Given the description of an element on the screen output the (x, y) to click on. 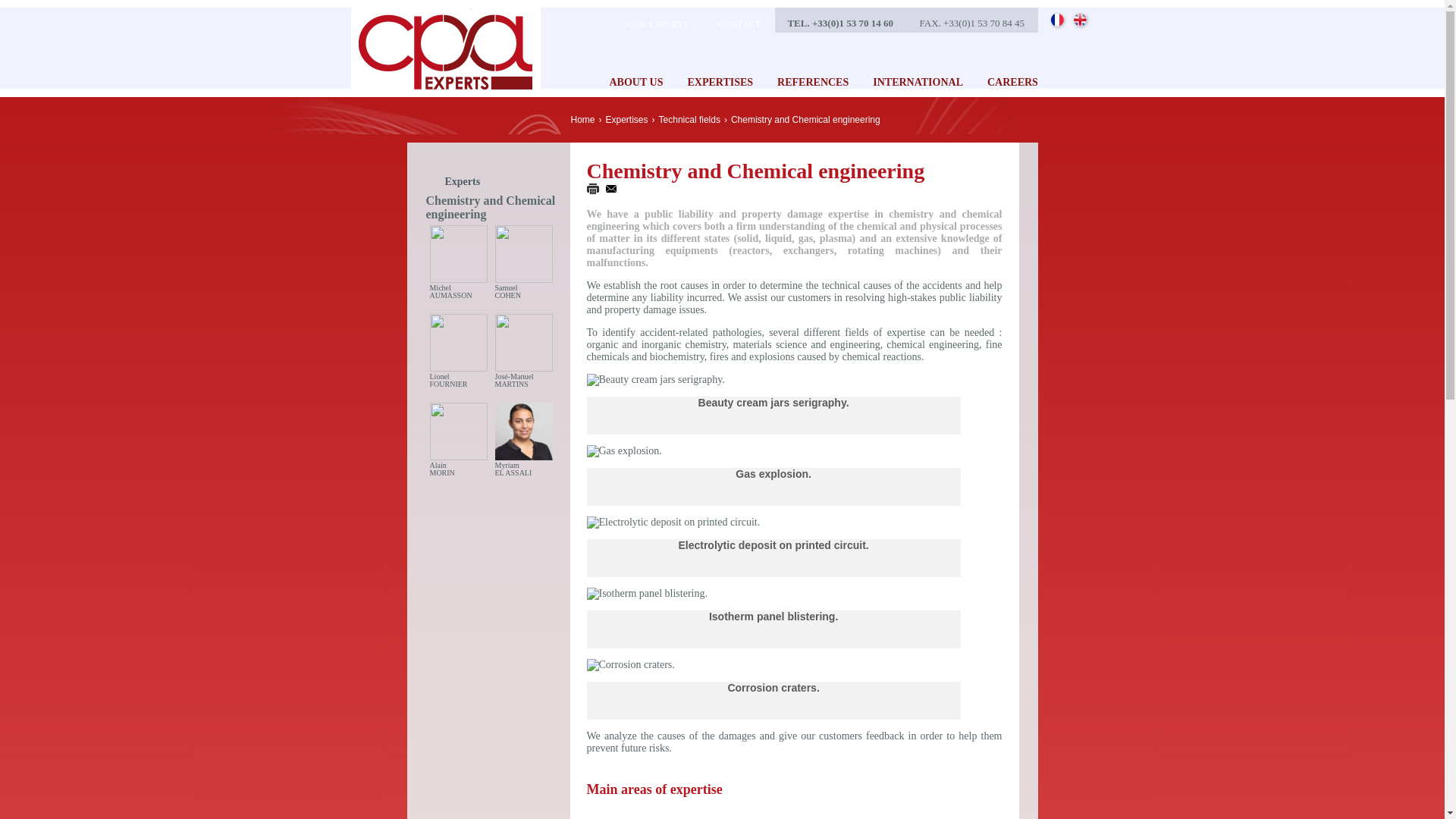
Expertises (626, 119)
Chemistry and Chemical engineering (805, 119)
EXPERTISES (720, 82)
CONTACT (731, 19)
Technical fields (689, 119)
Technical fields (689, 119)
CAREERS (459, 354)
ABOUT US (1012, 82)
Chemistry and Chemical engineering (635, 82)
OUR EXPERTS (805, 119)
Home (642, 19)
Expertises (459, 442)
Home (582, 119)
